Given the description of an element on the screen output the (x, y) to click on. 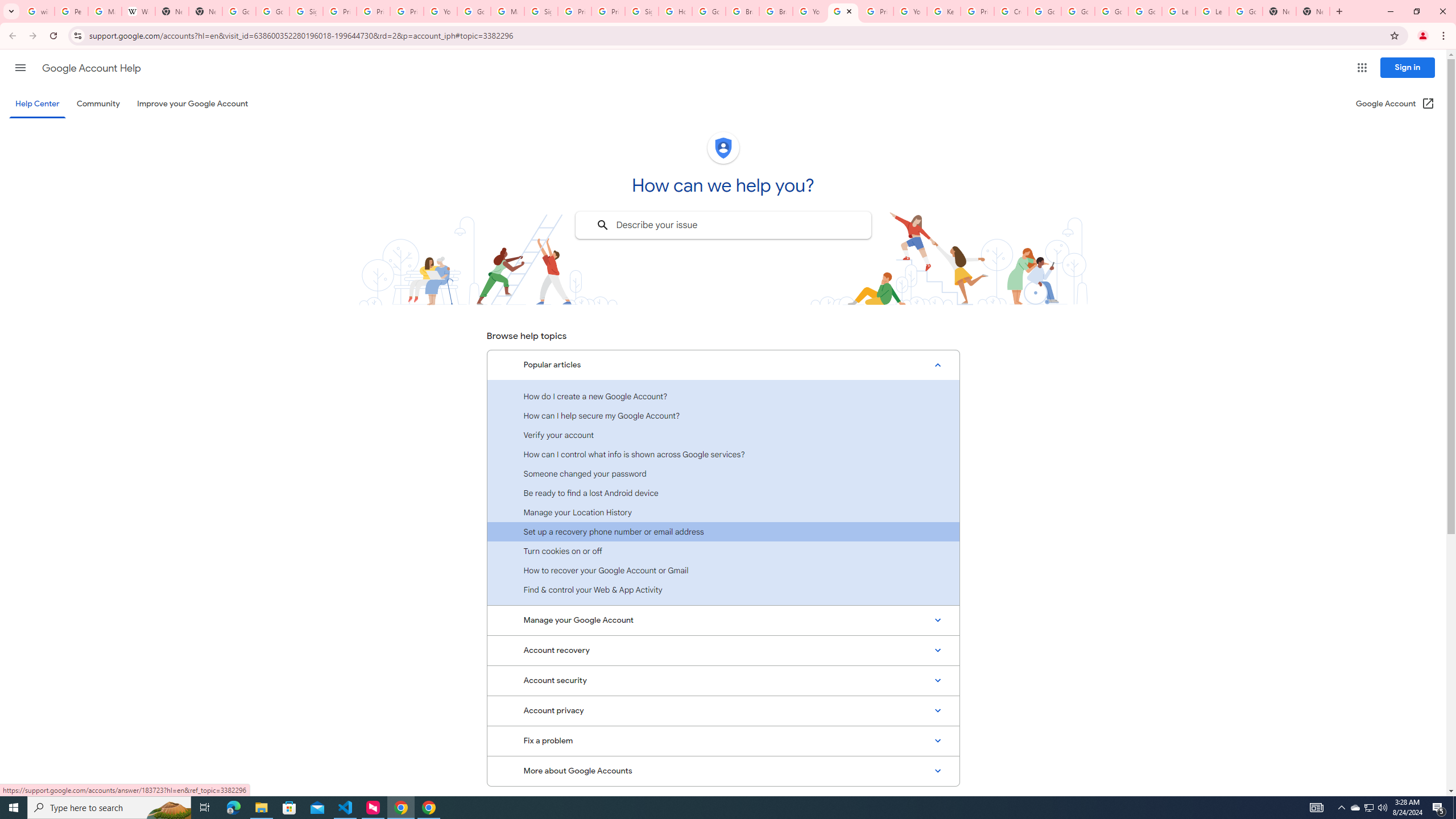
Google Account Help (1144, 11)
Popular articles, Expanded list with 11 items (722, 365)
Fix a problem (722, 740)
Sign in - Google Accounts (541, 11)
Find & control your Web & App Activity (722, 589)
Sign in - Google Accounts (305, 11)
Verify your account (722, 434)
How do I create a new Google Account? (722, 396)
